Given the description of an element on the screen output the (x, y) to click on. 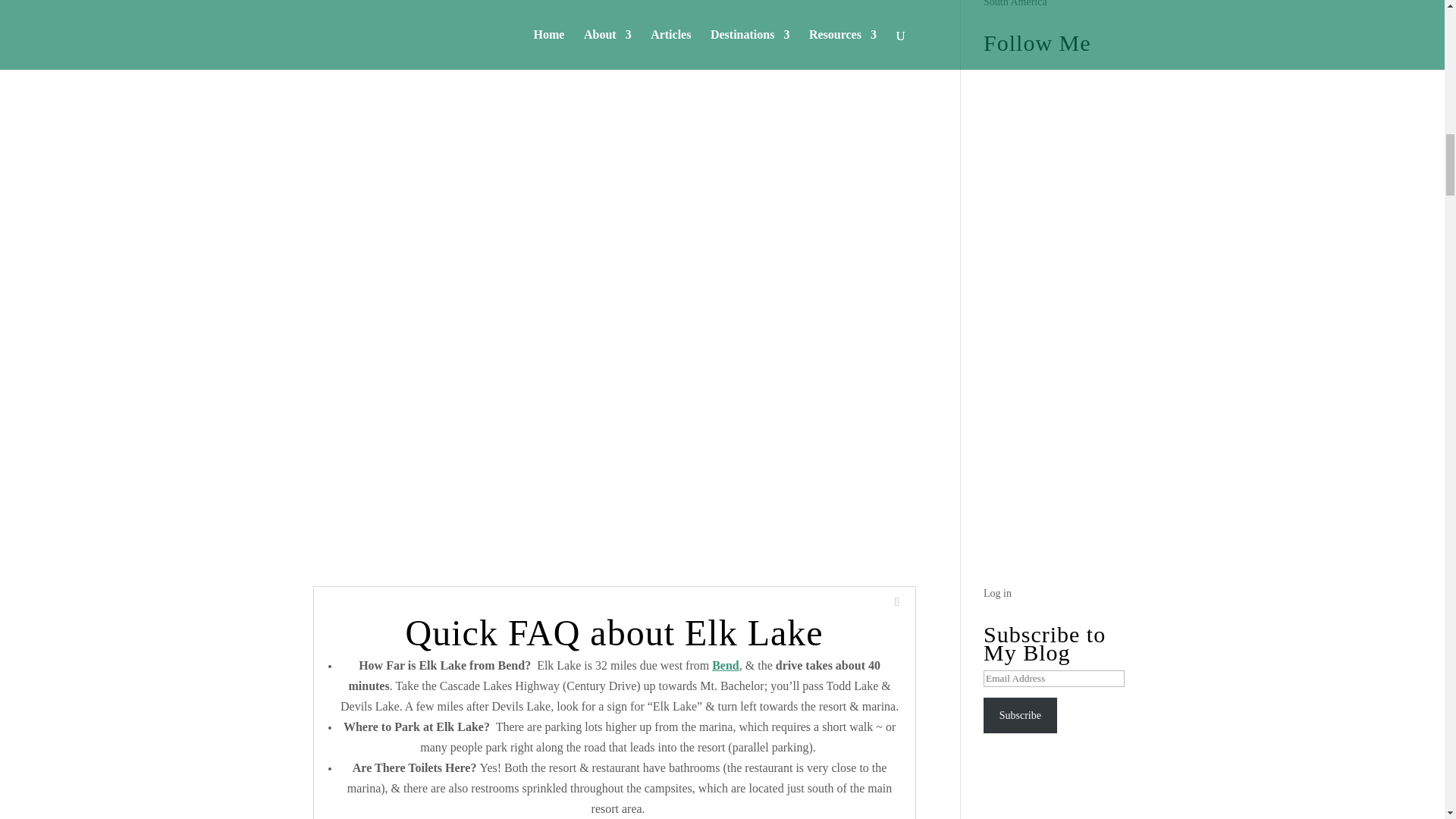
Bend (725, 665)
